Given the description of an element on the screen output the (x, y) to click on. 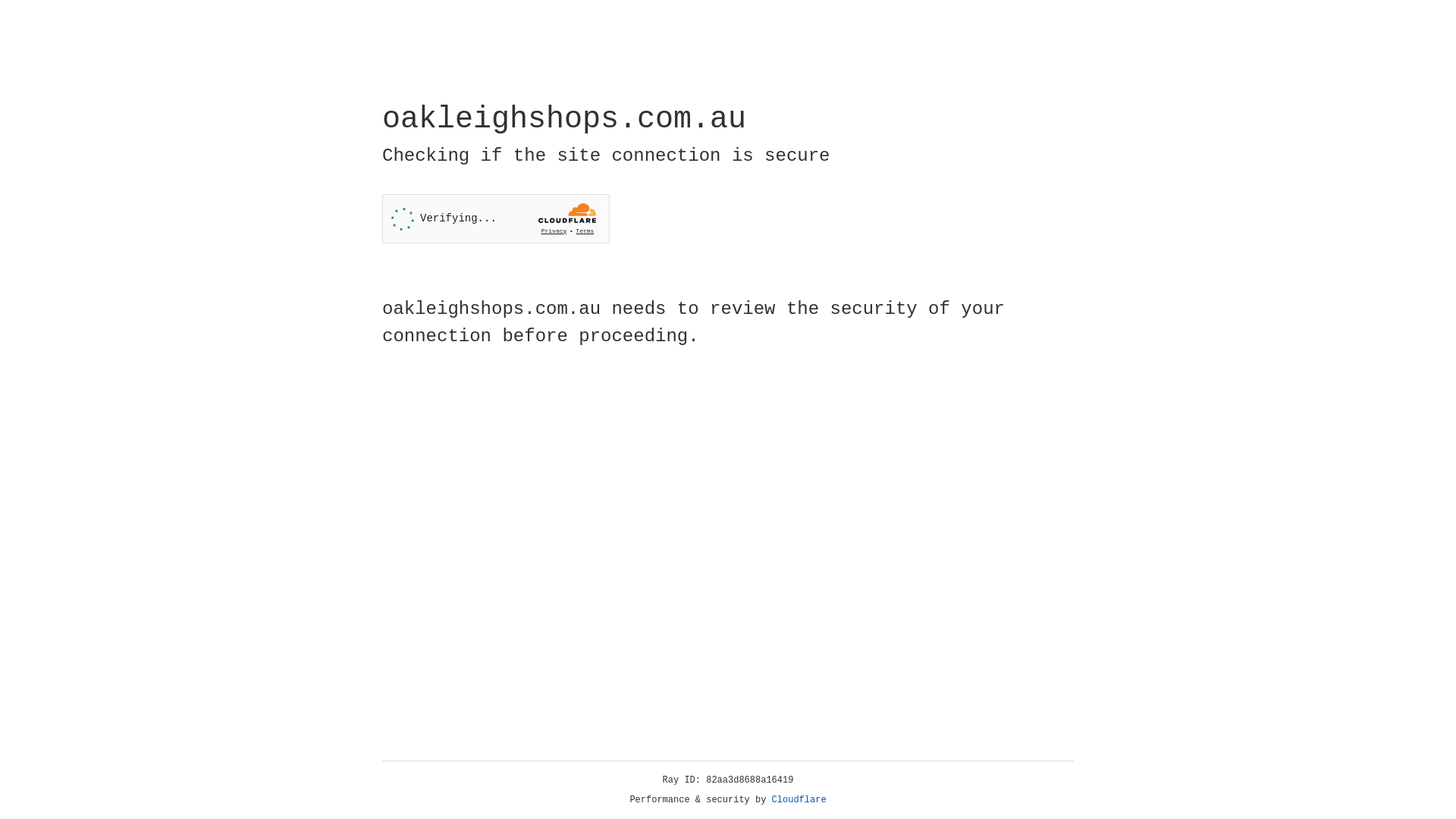
Widget containing a Cloudflare security challenge Element type: hover (495, 218)
Cloudflare Element type: text (798, 799)
